Given the description of an element on the screen output the (x, y) to click on. 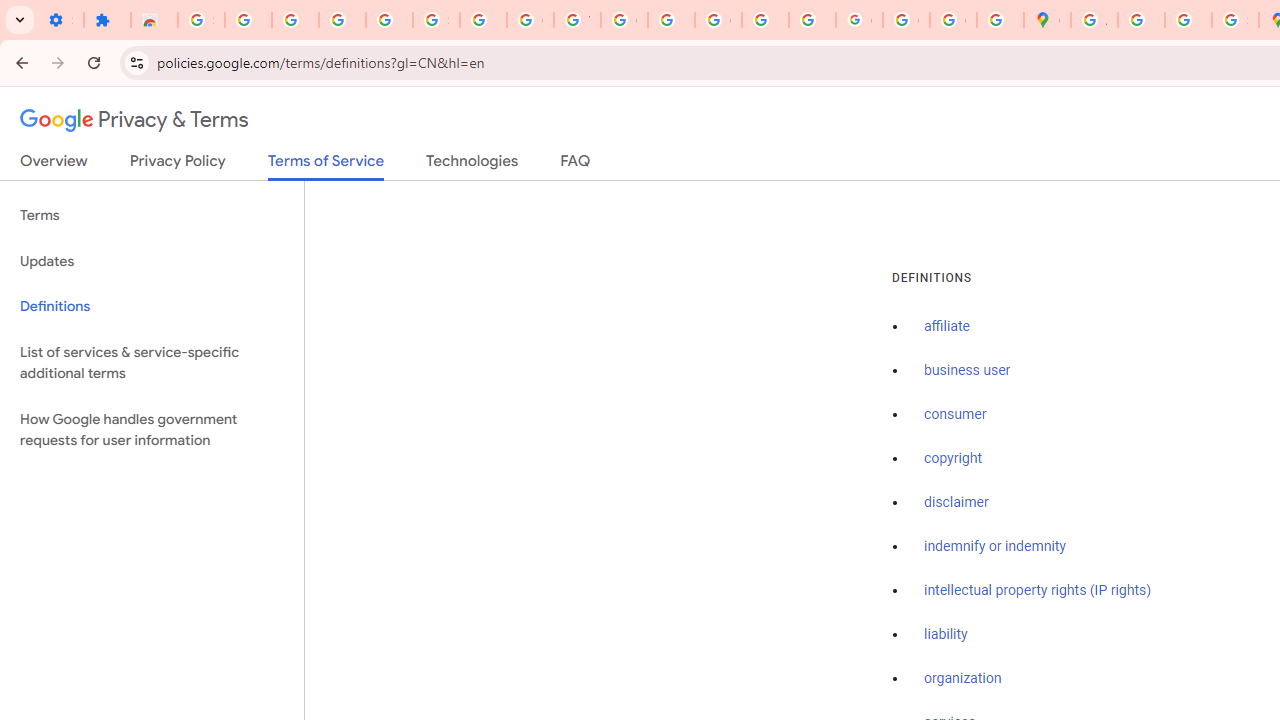
copyright (952, 459)
Sign in - Google Accounts (201, 20)
disclaimer (956, 502)
affiliate (947, 327)
